Given the description of an element on the screen output the (x, y) to click on. 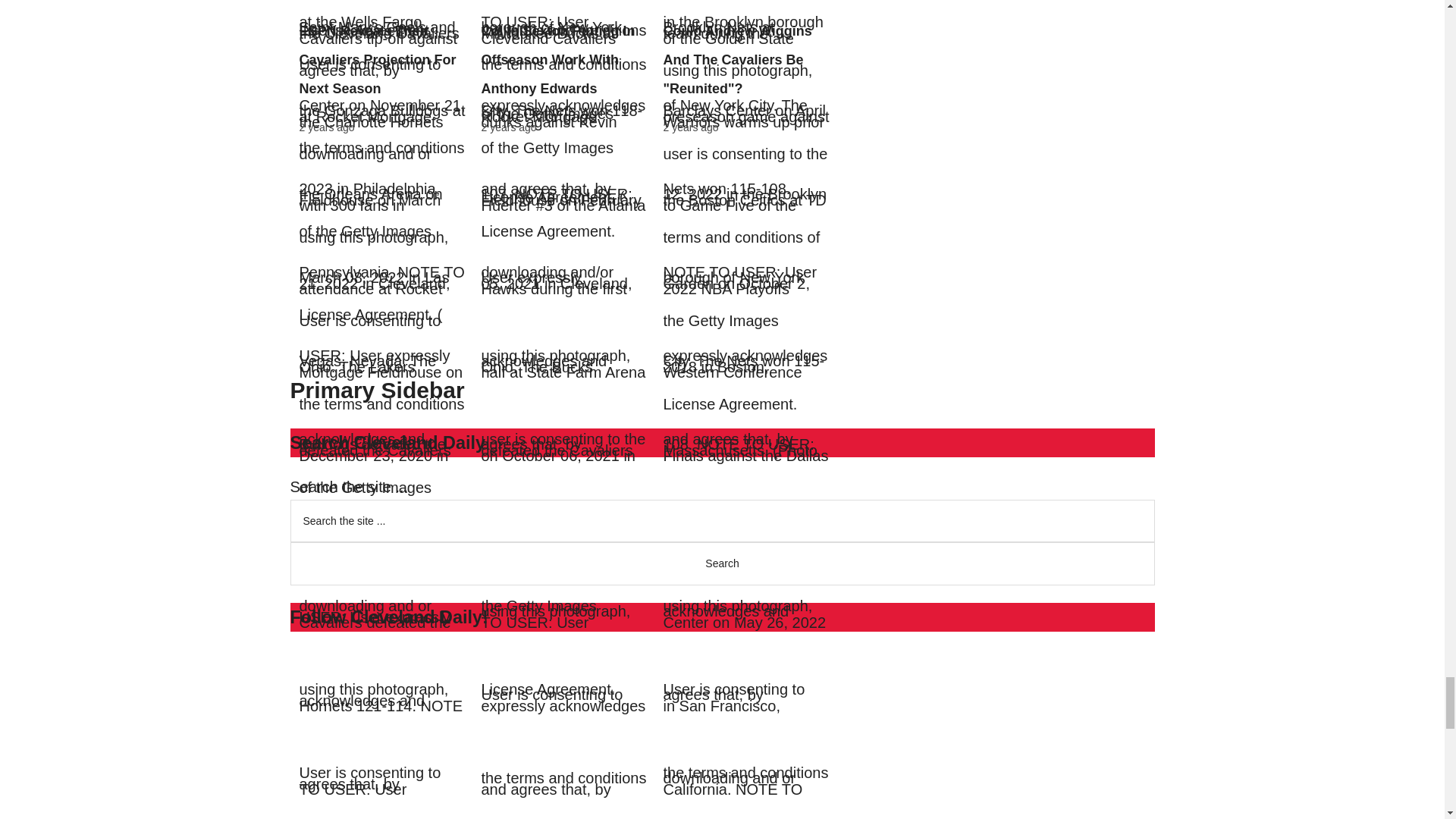
Search (721, 563)
Search (721, 563)
